Given the description of an element on the screen output the (x, y) to click on. 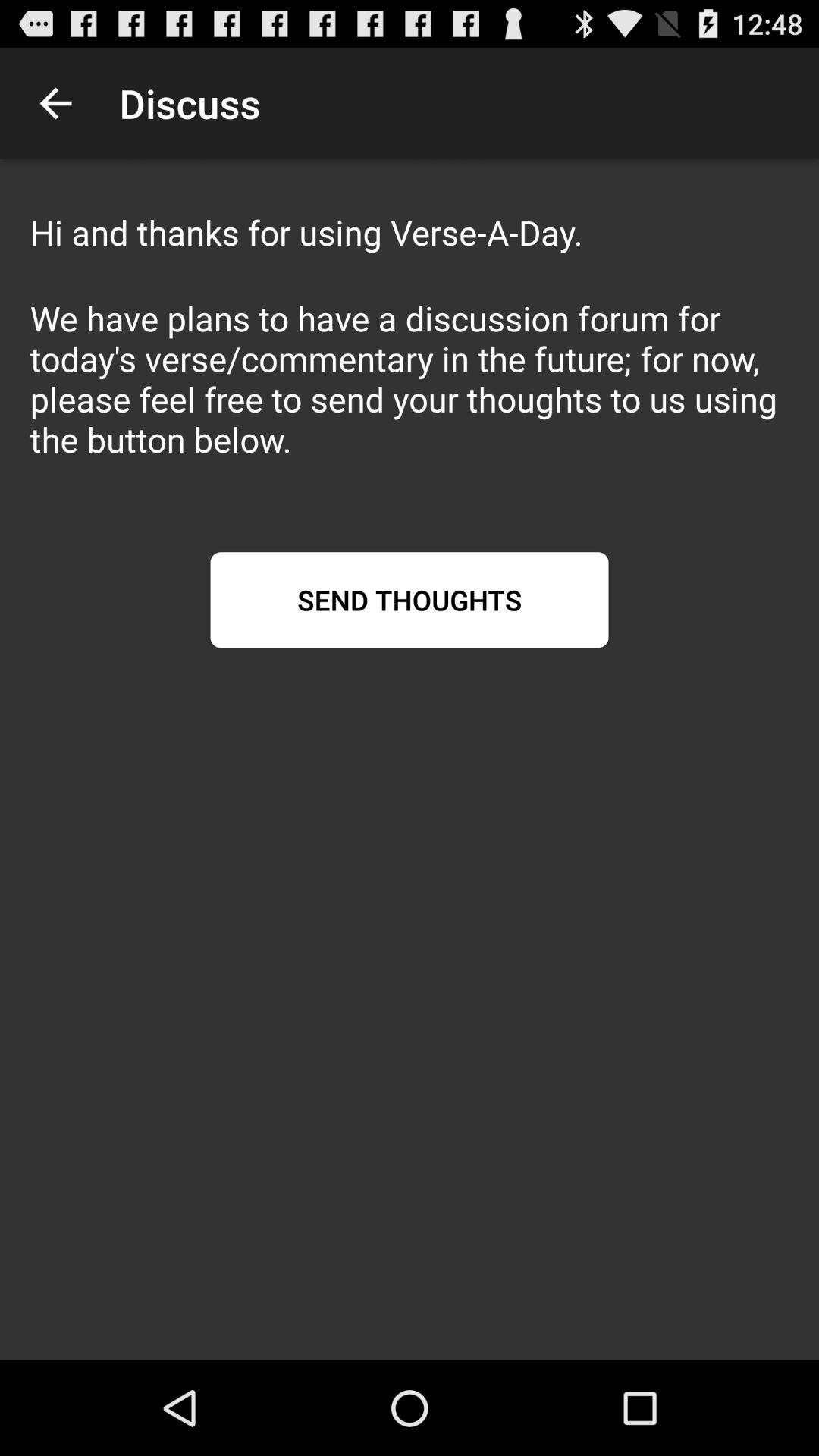
press app next to discuss (55, 103)
